Given the description of an element on the screen output the (x, y) to click on. 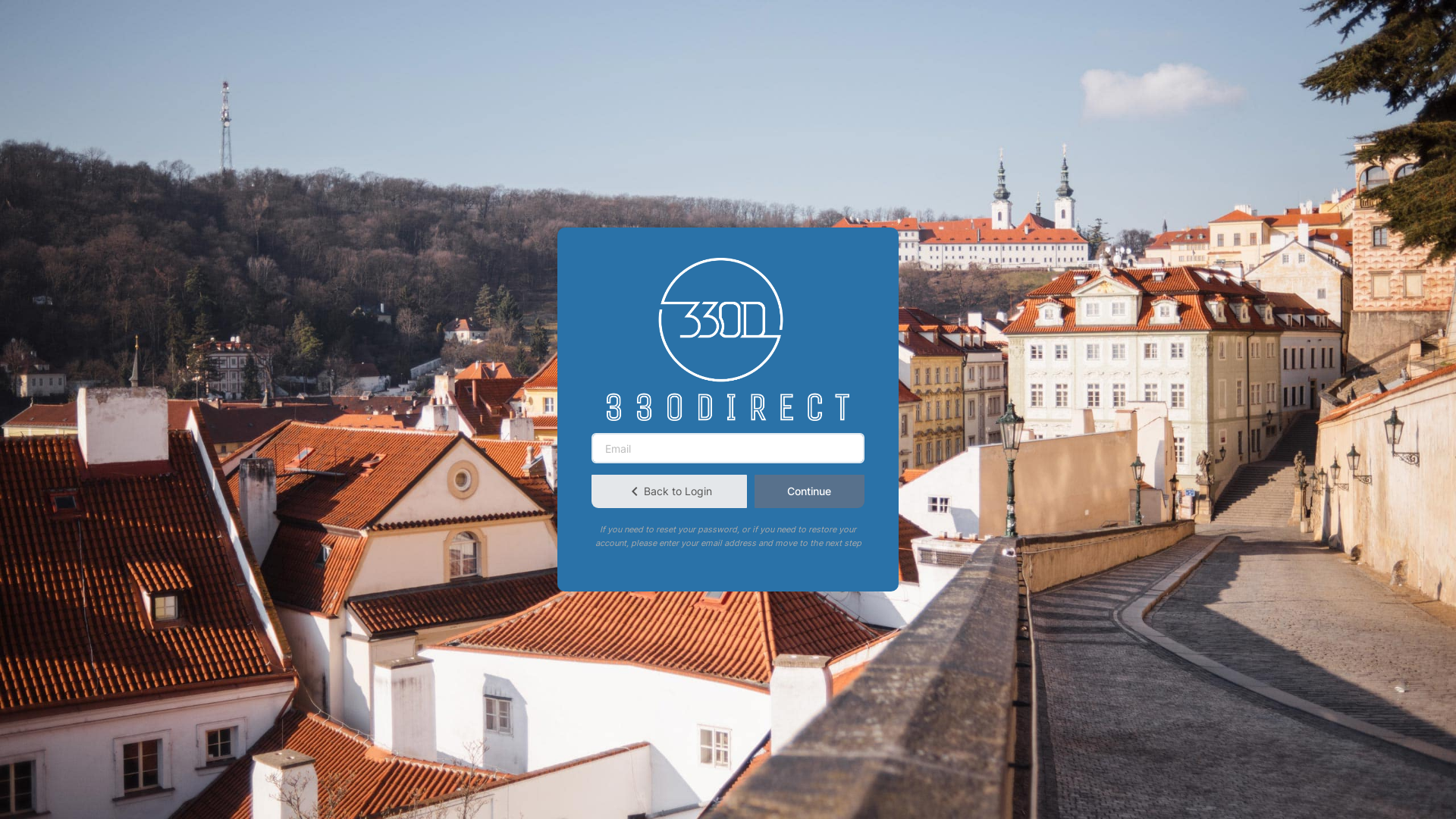
Continue Element type: text (809, 491)
navigate_before
Back to Login Element type: text (668, 491)
